Given the description of an element on the screen output the (x, y) to click on. 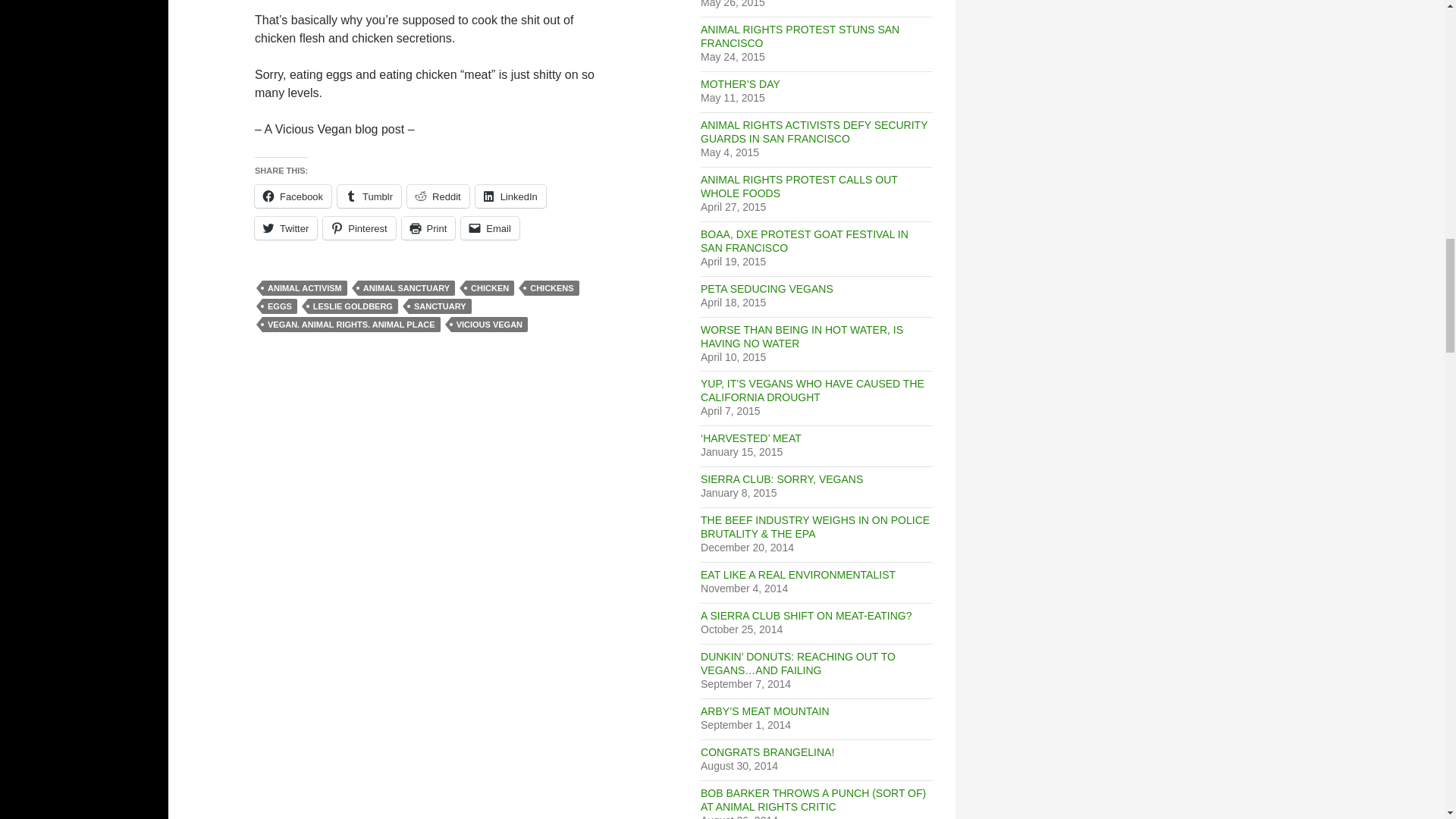
Reddit (437, 196)
Click to share on Pinterest (358, 228)
CHICKENS (551, 287)
Click to share on Reddit (437, 196)
LESLIE GOLDBERG (352, 305)
ANIMAL SANCTUARY (406, 287)
Tumblr (369, 196)
Click to print (428, 228)
Click to share on LinkedIn (511, 196)
LinkedIn (511, 196)
